Given the description of an element on the screen output the (x, y) to click on. 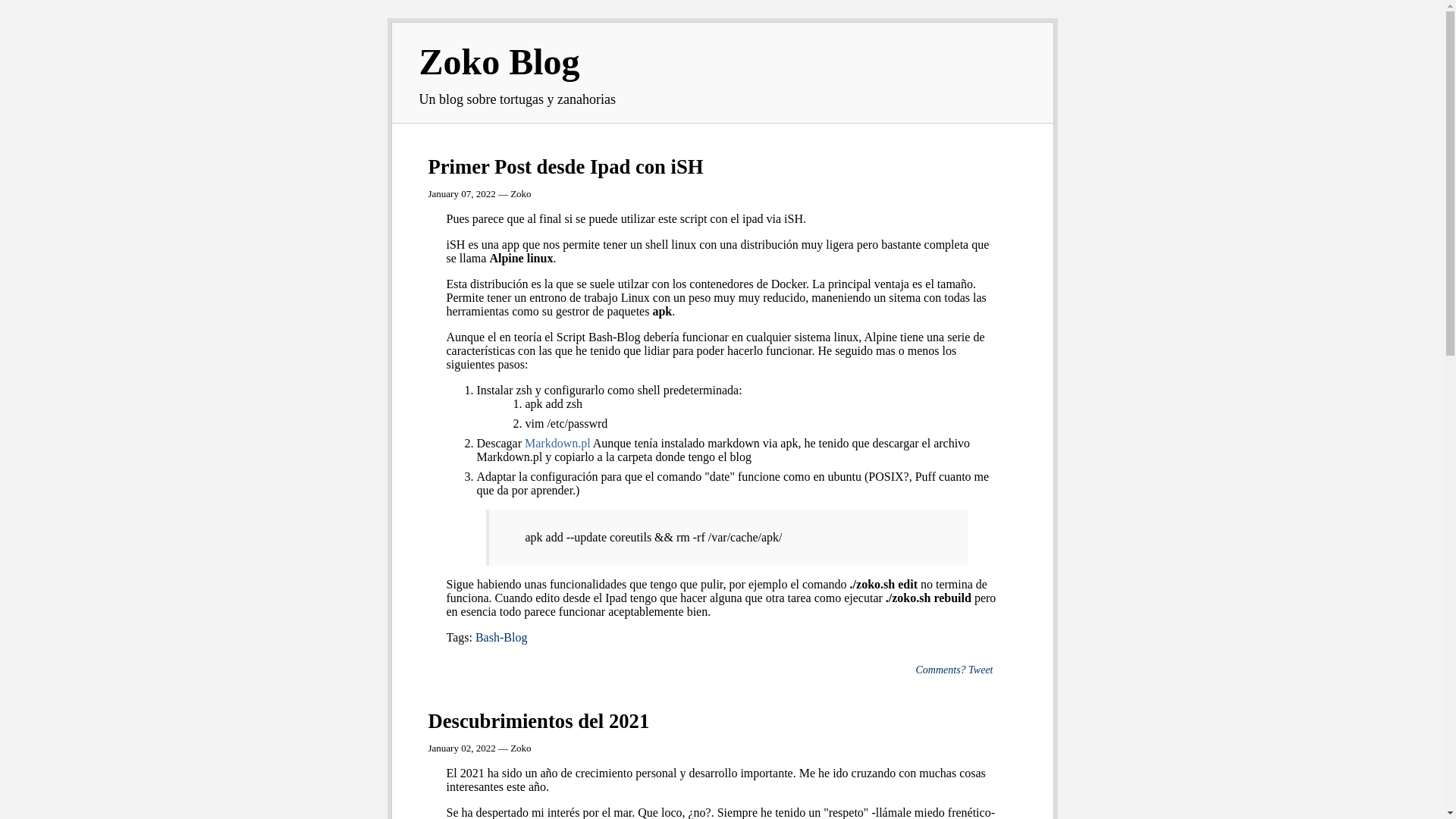
Comments? Tweet Element type: text (953, 669)
Zoko Blog Element type: text (498, 61)
Descubrimientos del 2021 Element type: text (538, 720)
Primer Post desde Ipad con iSH Element type: text (564, 166)
Bash-Blog Element type: text (501, 636)
Markdown.pl Element type: text (557, 442)
